Given the description of an element on the screen output the (x, y) to click on. 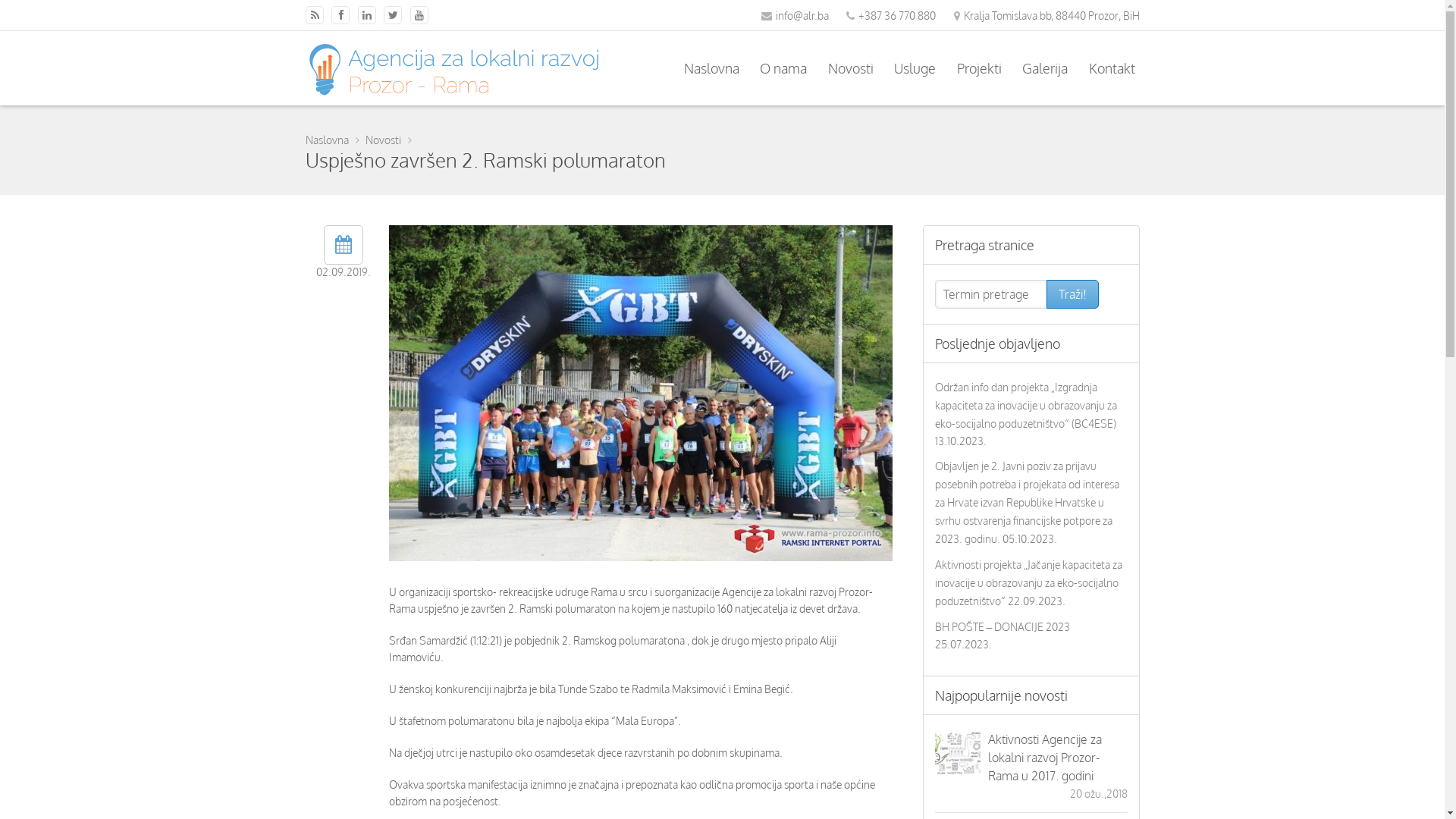
Naslovna Element type: text (711, 67)
O nama Element type: text (783, 67)
Naslovna Element type: text (328, 139)
info@alr.ba Element type: text (801, 15)
Usluge Element type: text (914, 67)
Projekti Element type: text (979, 67)
Kontakt Element type: text (1111, 67)
Novosti Element type: text (850, 67)
Galerija Element type: text (1044, 67)
Novosti Element type: text (385, 139)
